Given the description of an element on the screen output the (x, y) to click on. 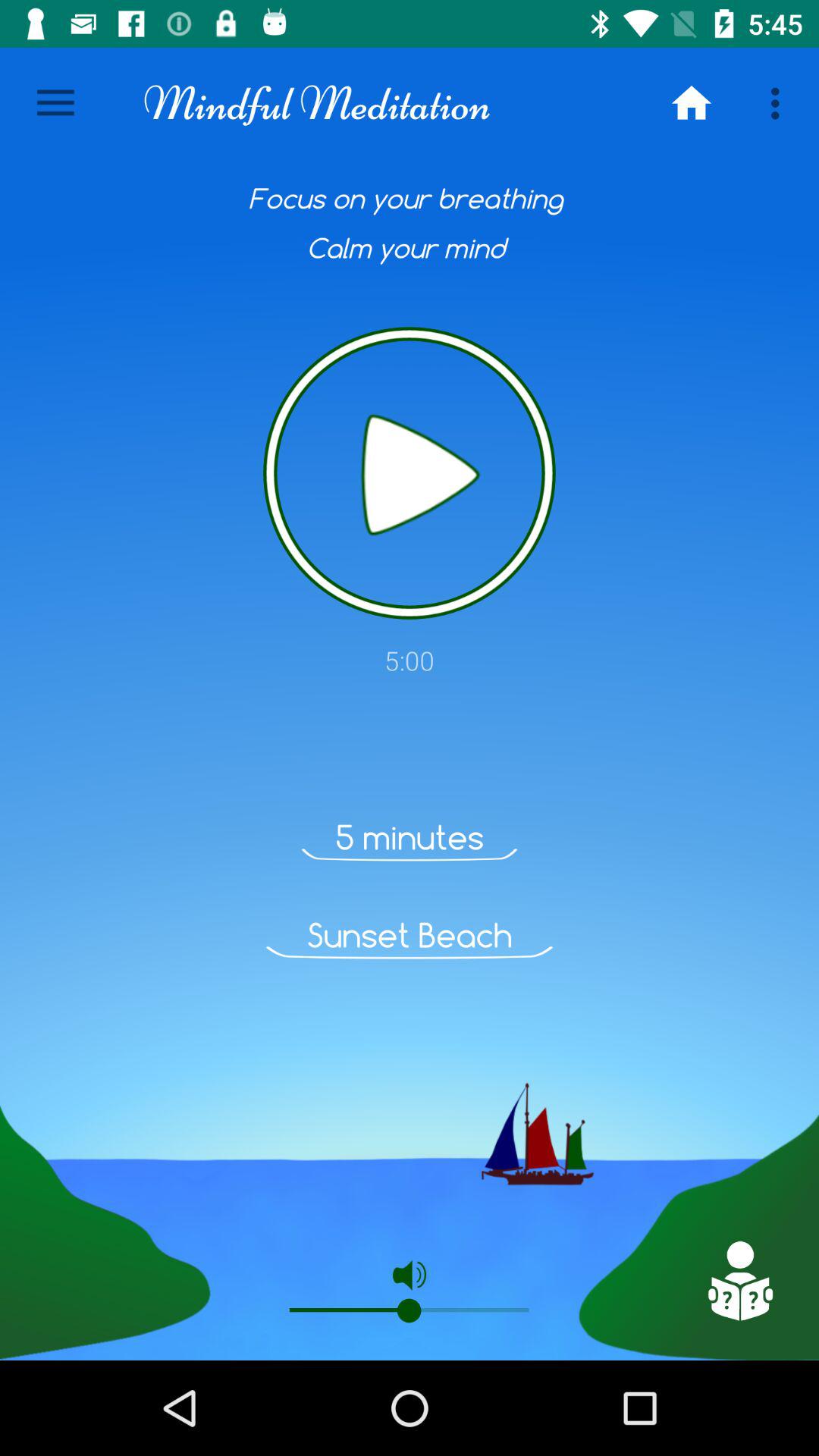
turn off icon next to mindful meditation icon (691, 103)
